Given the description of an element on the screen output the (x, y) to click on. 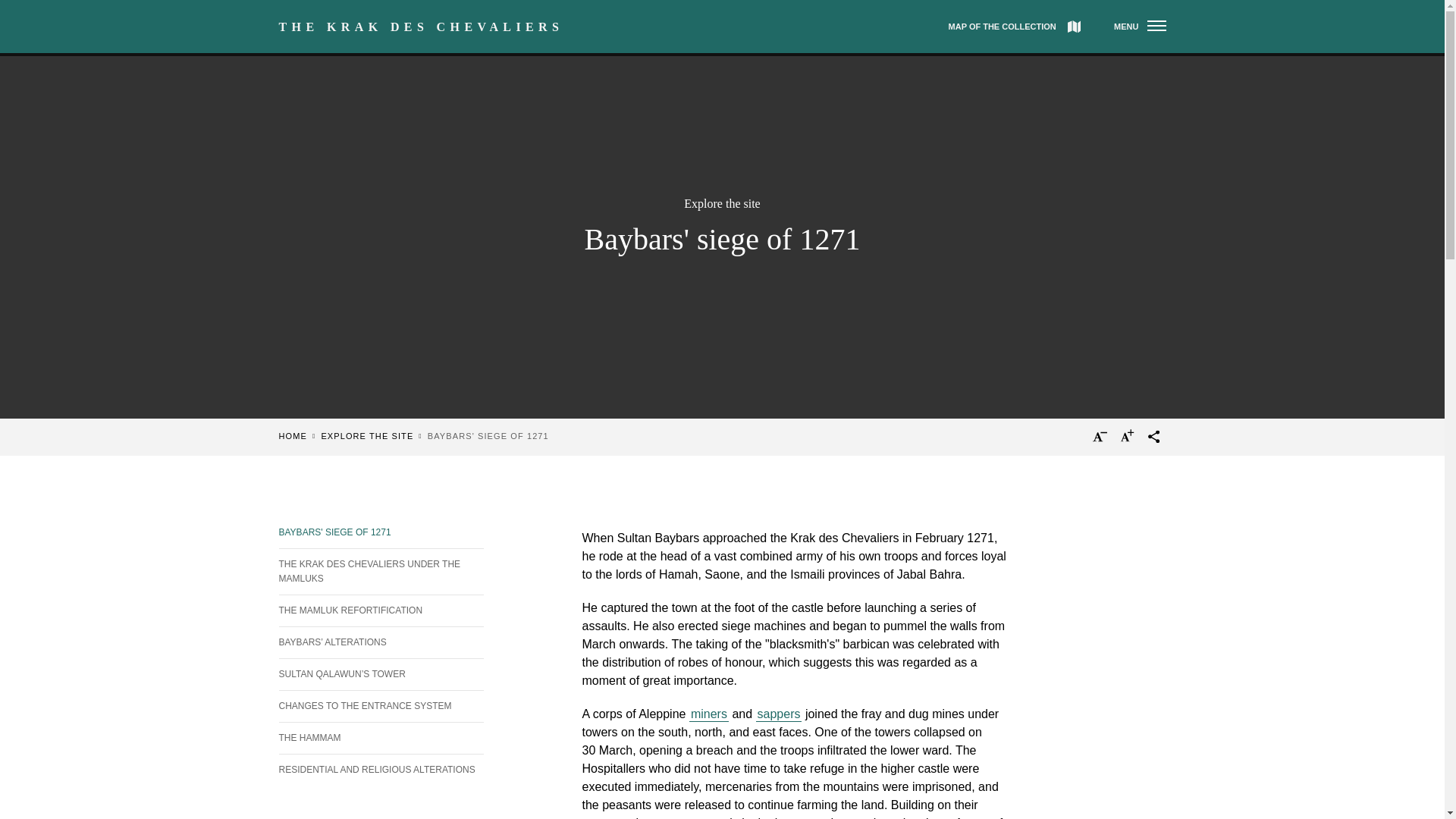
MENU (1139, 26)
MAP OF THE COLLECTION (1015, 26)
THE KRAK DES CHEVALIERS (421, 26)
Baybars' siege of 1271 - Active section (381, 531)
Augmenter la taille du texte (1129, 440)
